Given the description of an element on the screen output the (x, y) to click on. 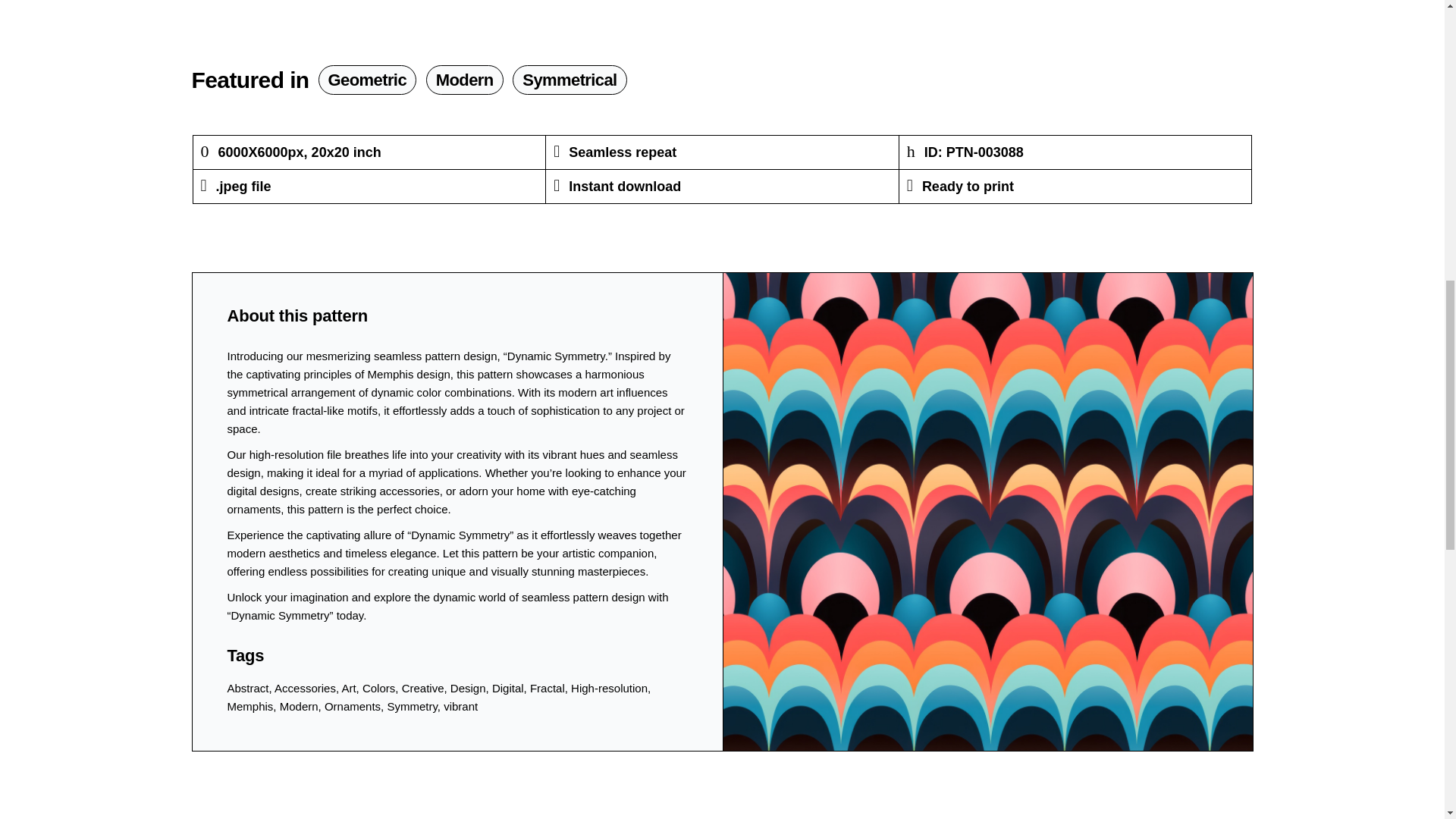
Symmetrical (569, 80)
Abstract (248, 687)
Geometric (367, 80)
Accessories (305, 687)
Modern (464, 80)
Colors (378, 687)
Art (347, 687)
